Given the description of an element on the screen output the (x, y) to click on. 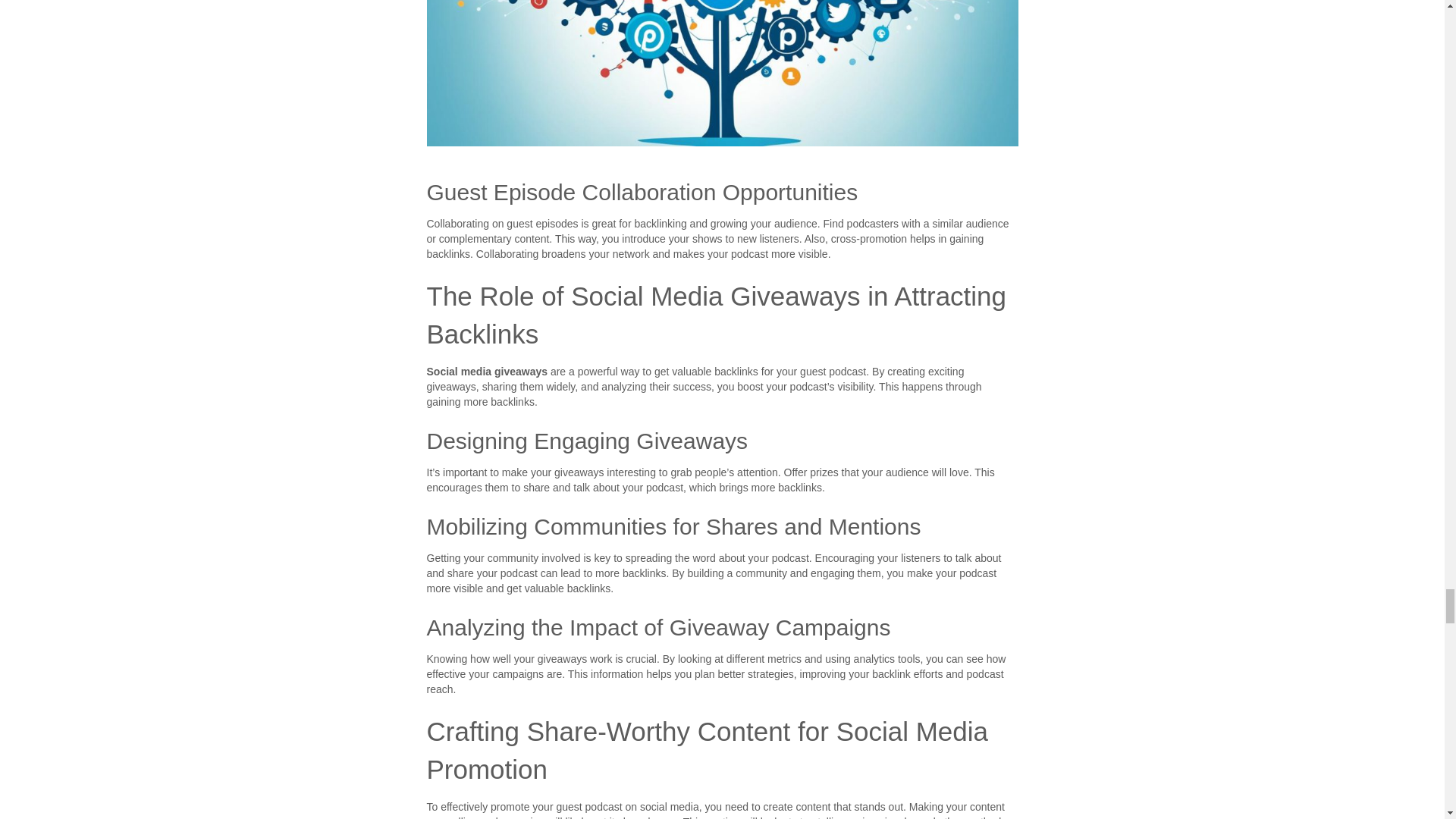
building relationships for podcast backlinking (721, 73)
